Given the description of an element on the screen output the (x, y) to click on. 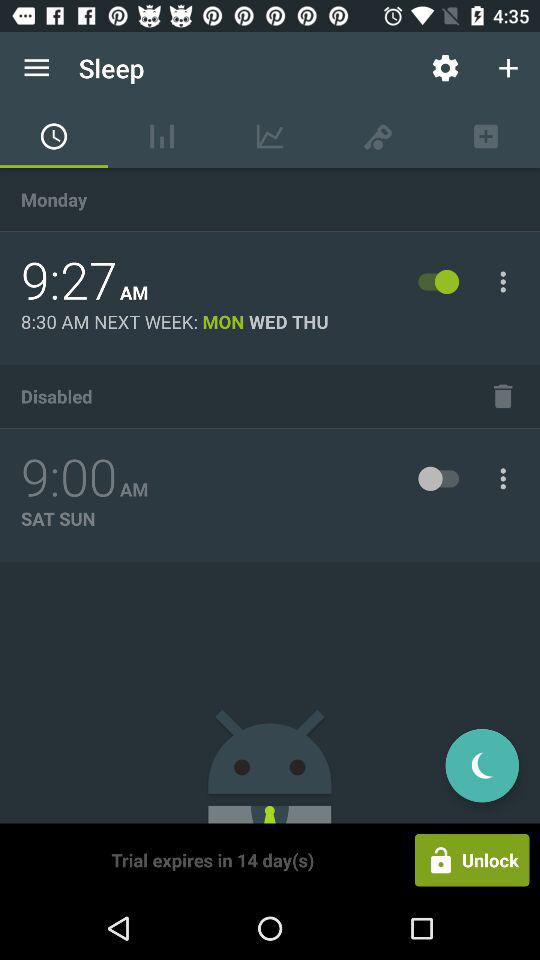
tap the icon next to the sleep app (444, 67)
